Given the description of an element on the screen output the (x, y) to click on. 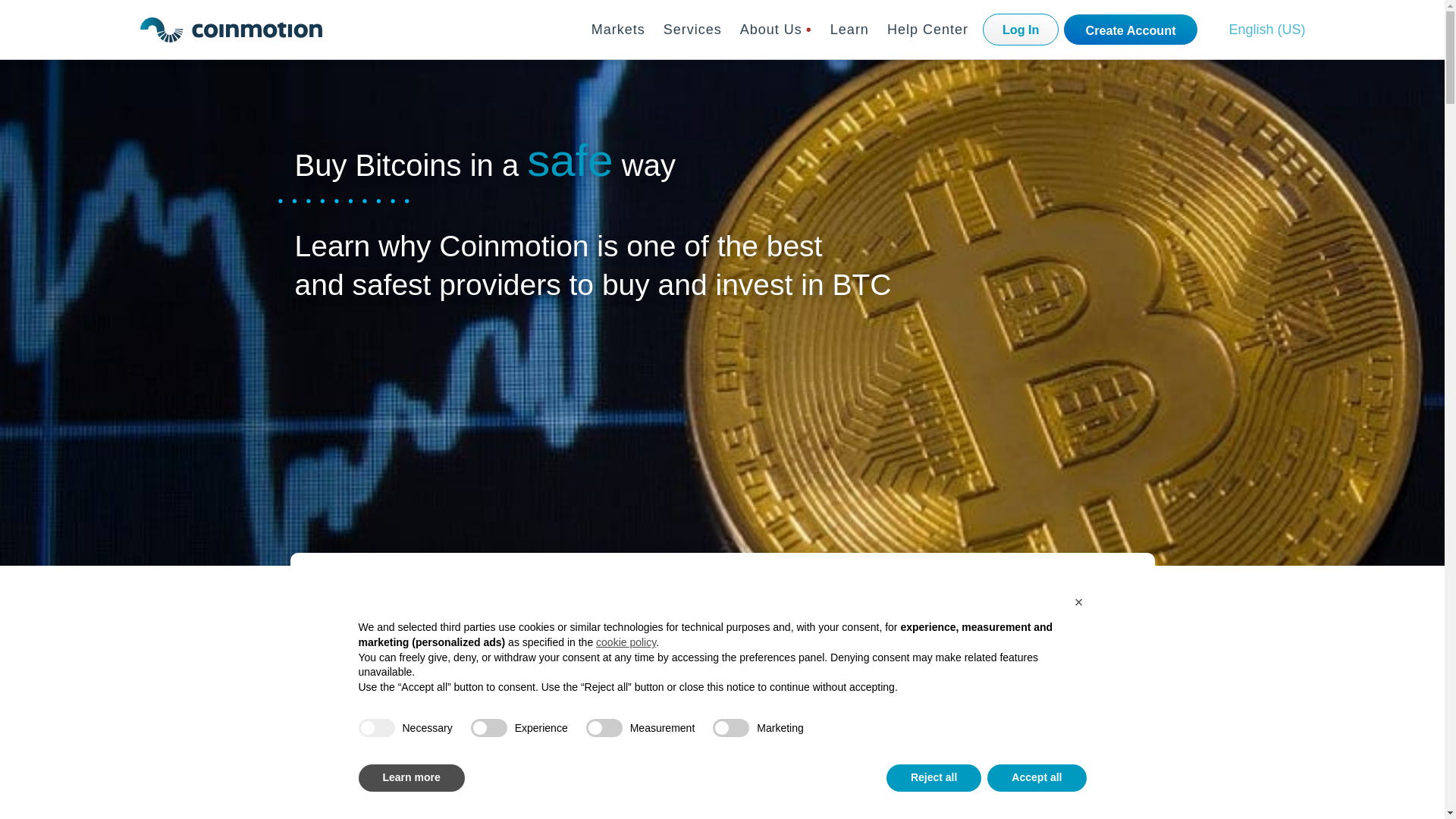
true (376, 728)
false (731, 728)
Help Center (926, 29)
false (604, 728)
Create Account (1130, 29)
false (488, 728)
Coinmotion Status (166, 729)
Markets (619, 29)
Log In (1020, 29)
Learn (849, 29)
Services (693, 29)
